Given the description of an element on the screen output the (x, y) to click on. 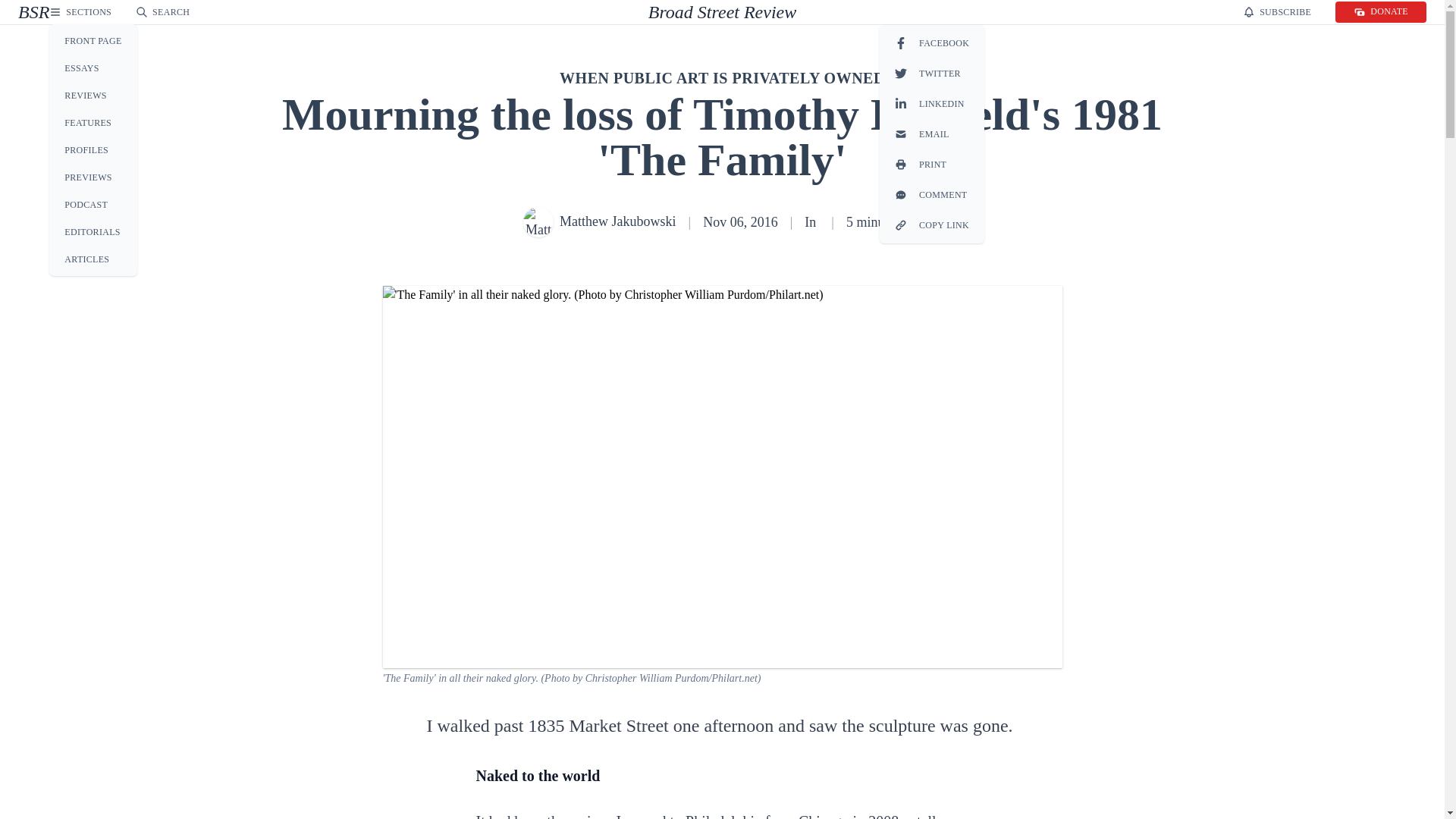
SHARE (905, 11)
Broad Street Review (721, 12)
ARTICLES (536, 11)
FACEBOOK (931, 43)
TWITTER (931, 73)
Mourning the loss of Timothy Duffield's 1981 'The Family' (717, 12)
EDITORIALS (93, 231)
PODCAST (93, 204)
ARTICLES (93, 259)
SECTIONS (80, 11)
FEATURES (93, 122)
PROFILES (93, 149)
EMAIL (931, 134)
FRONT PAGE (93, 40)
ESSAYS (93, 67)
